Given the description of an element on the screen output the (x, y) to click on. 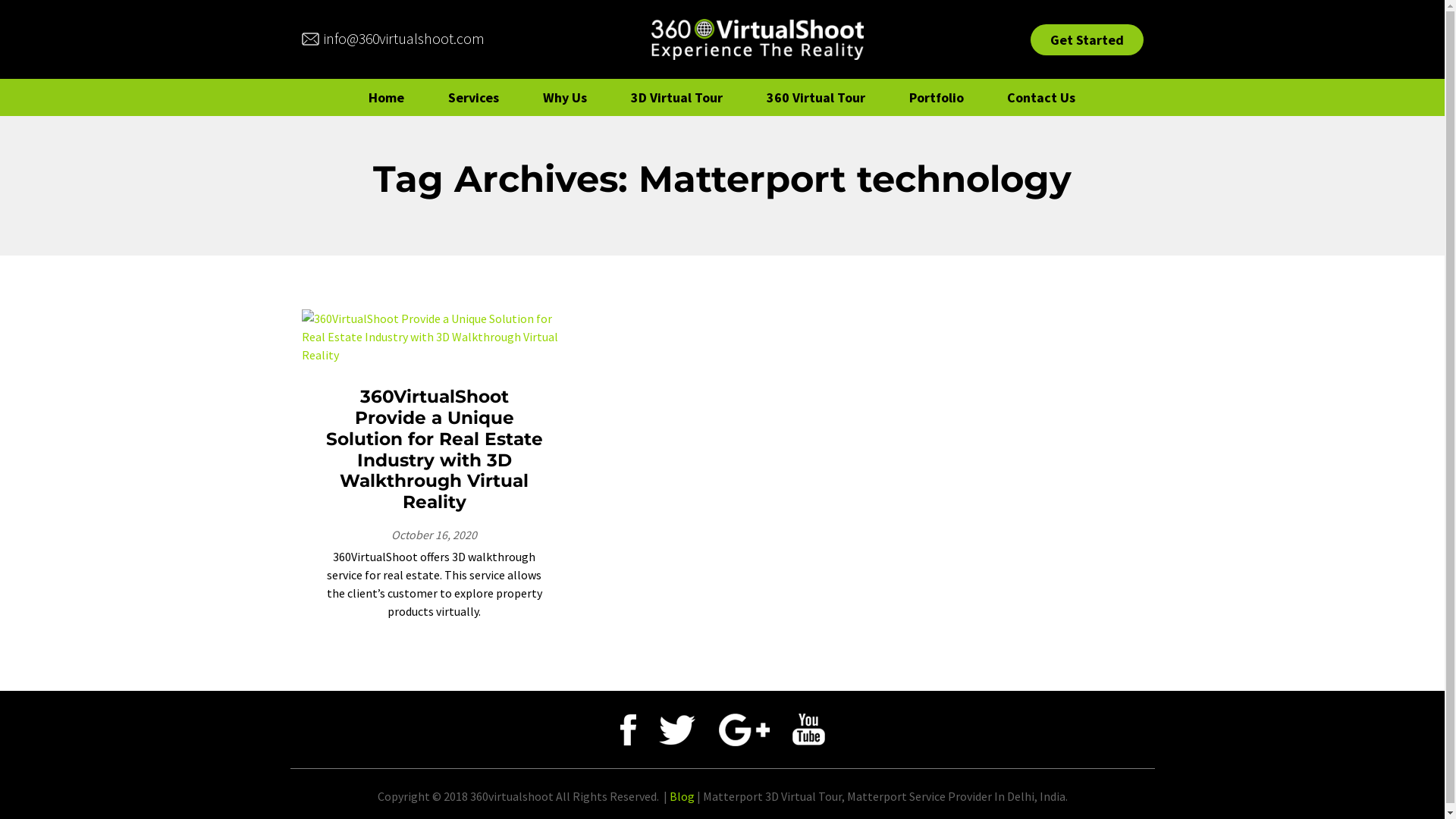
Home Element type: text (386, 96)
Why Us Element type: text (564, 96)
google plus Element type: text (743, 729)
Services Element type: text (473, 96)
360 Virtual Tour Element type: text (815, 96)
Portfolio Element type: text (935, 96)
youtube Element type: text (808, 729)
facebook Element type: text (627, 729)
Contact Us Element type: text (1040, 96)
info@360virtualshoot.com Element type: text (392, 39)
twitter Element type: text (676, 729)
Blog Element type: text (680, 795)
3D Virtual Tour Element type: text (676, 96)
Get Started Element type: text (1085, 39)
